Given the description of an element on the screen output the (x, y) to click on. 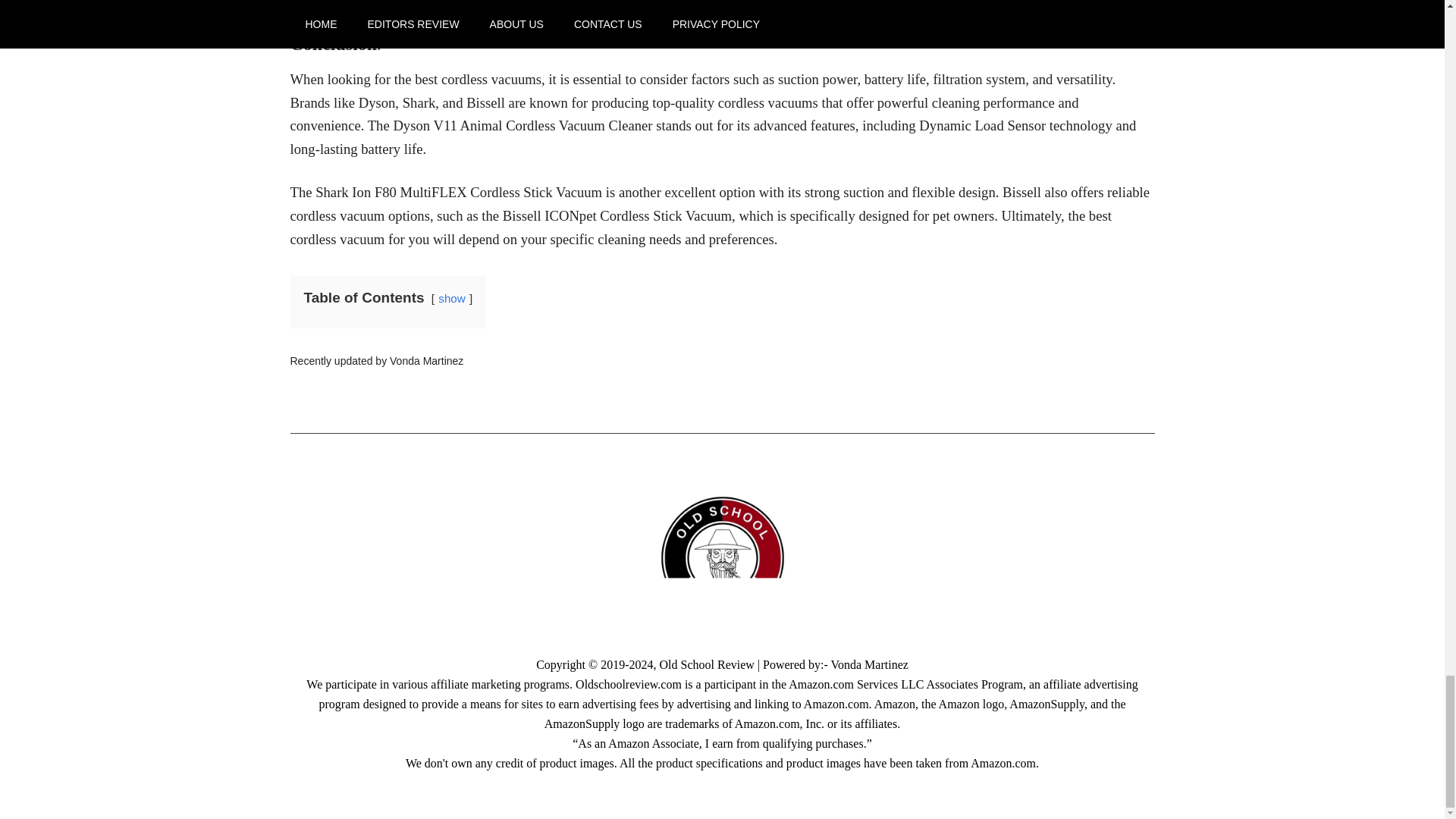
Old School Review (706, 664)
show (451, 297)
